Given the description of an element on the screen output the (x, y) to click on. 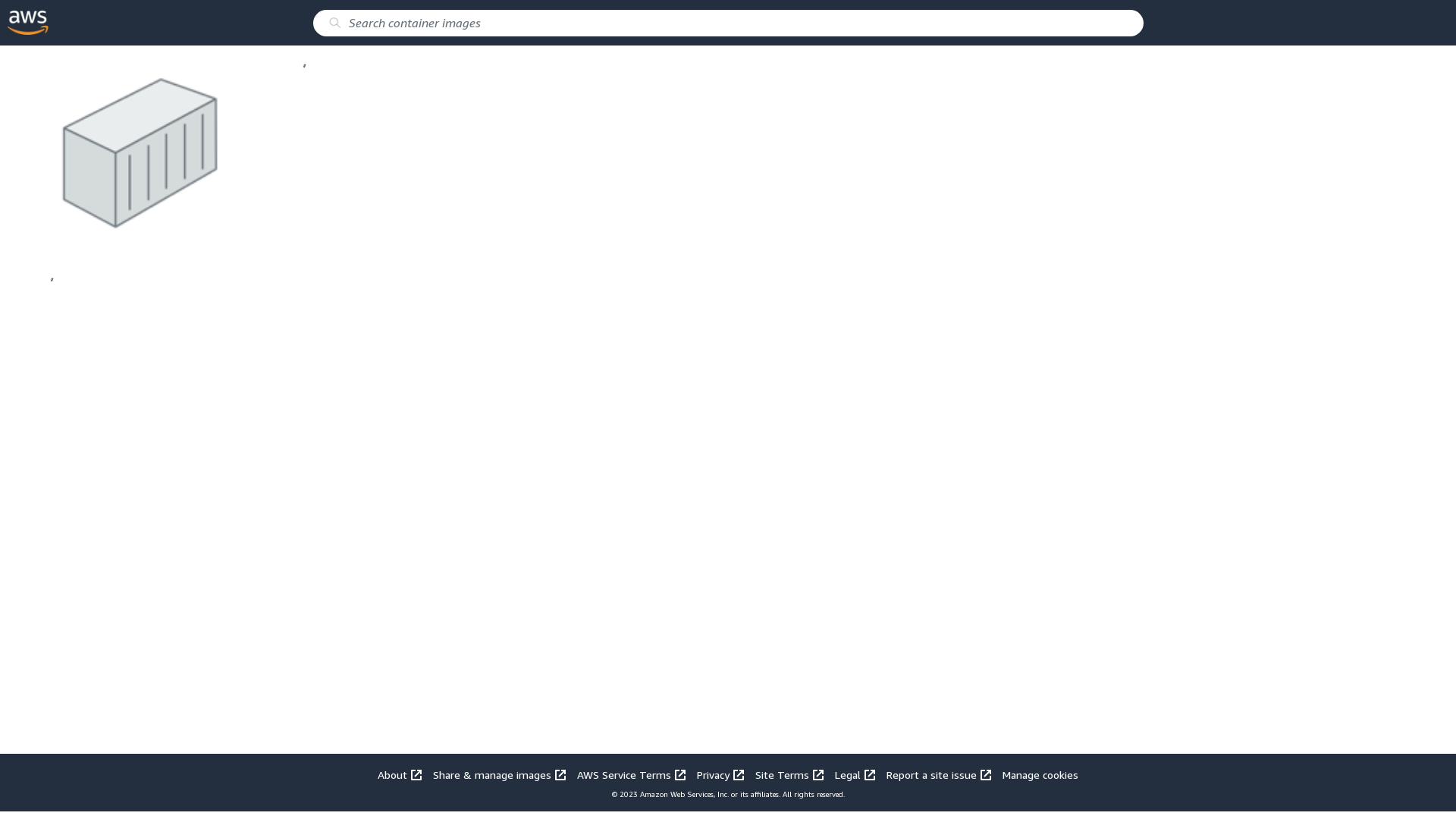
Share & manage images  Element type: text (494, 774)
Manage cookies Element type: text (1034, 774)
Report a site issue  Element type: text (933, 774)
Site Terms  Element type: text (784, 774)
AWS Service Terms  Element type: text (626, 774)
Legal  Element type: text (849, 774)
Privacy  Element type: text (715, 774)
About  Element type: text (399, 774)
